Given the description of an element on the screen output the (x, y) to click on. 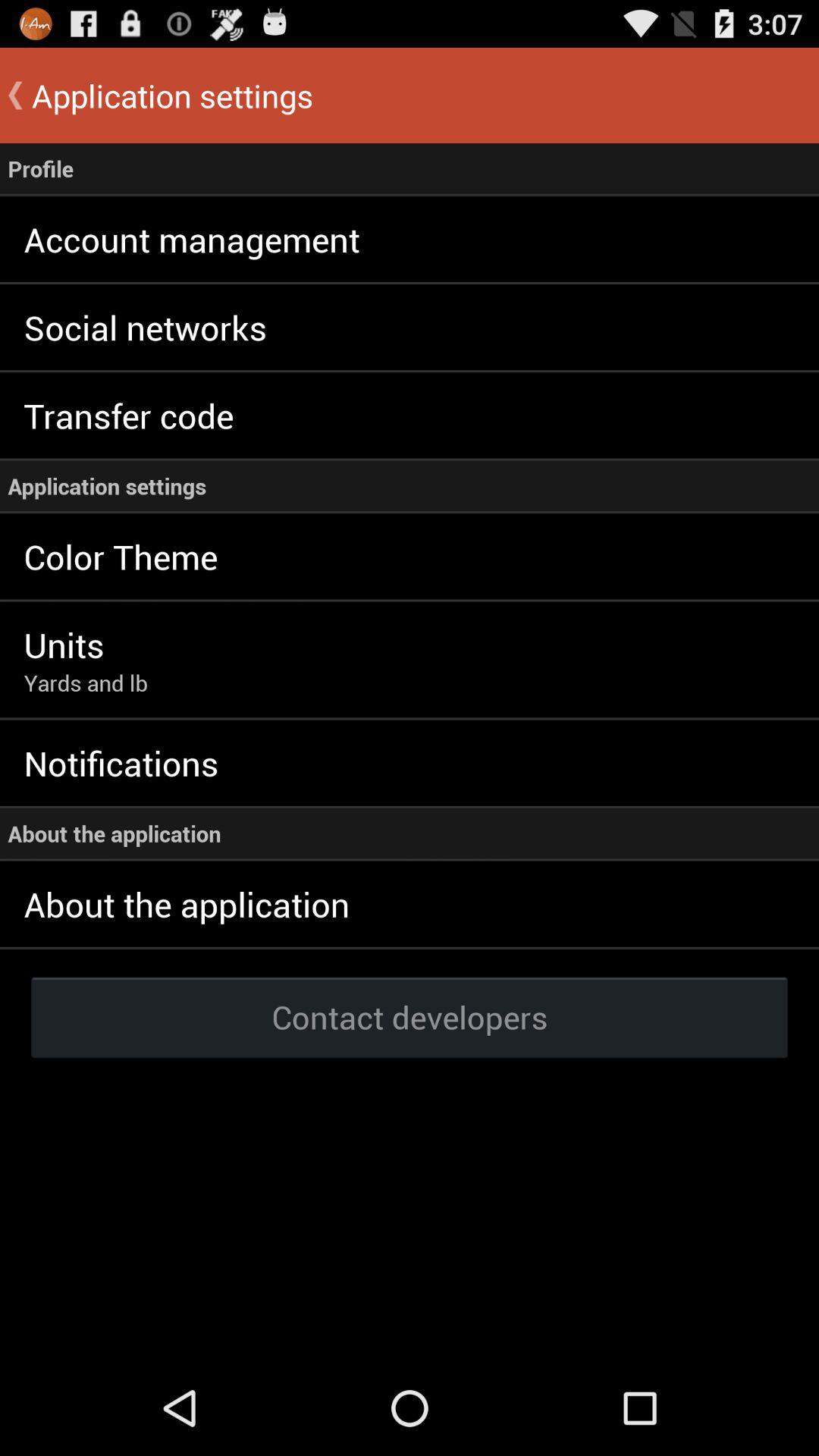
open the icon at the bottom (409, 1016)
